Given the description of an element on the screen output the (x, y) to click on. 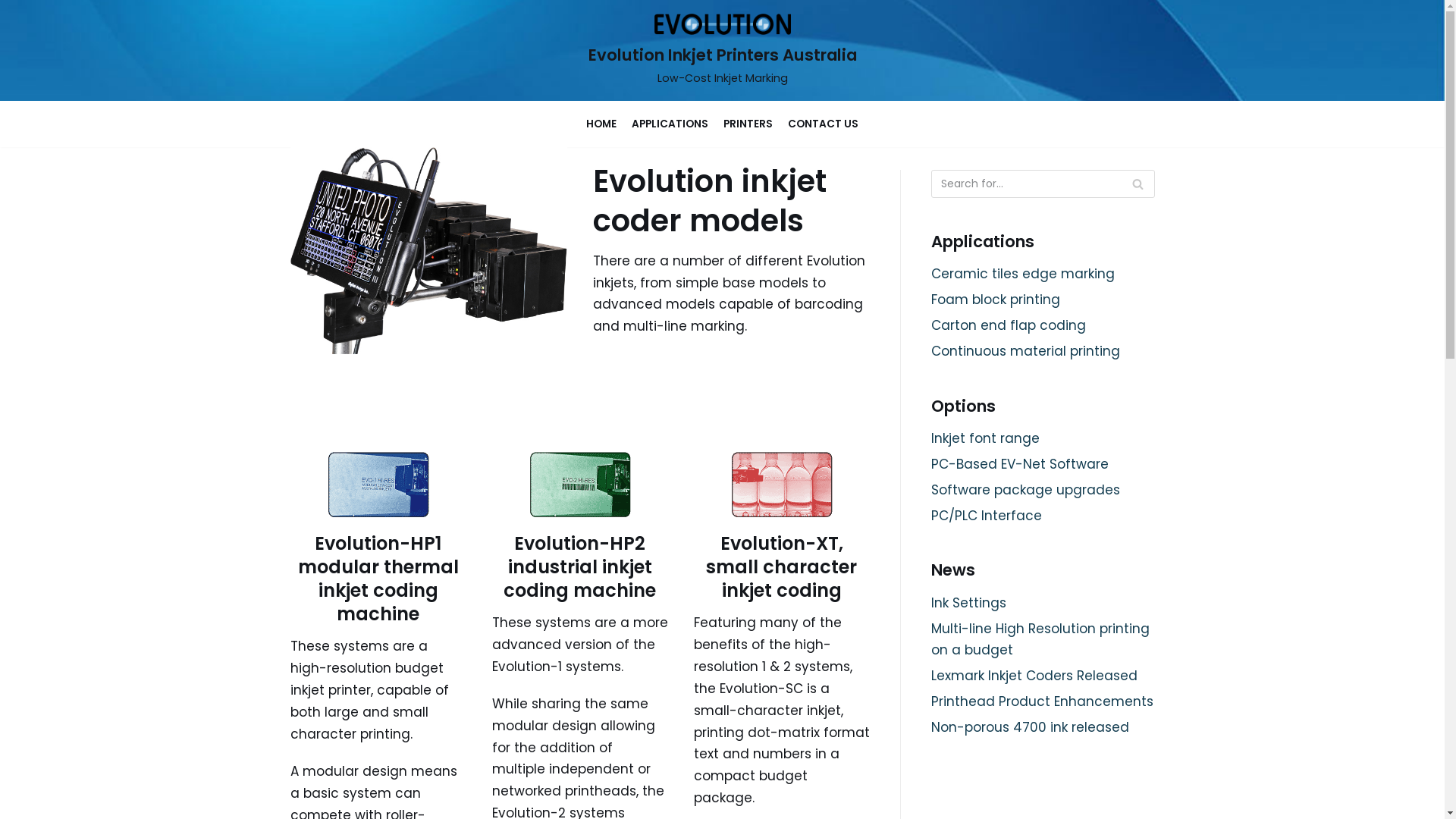
Printhead Product Enhancements Element type: text (1042, 701)
Non-porous 4700 ink released Element type: text (1030, 727)
Skip to content Element type: text (15, 7)
Software package upgrades Element type: text (1025, 489)
PRINTERS Element type: text (747, 123)
Continuous material printing Element type: text (1025, 351)
HOME Element type: text (601, 123)
Lexmark Inkjet Coders Released Element type: text (1034, 675)
Multi-line High Resolution printing on a budget Element type: text (1040, 638)
PC-Based EV-Net Software Element type: text (1019, 464)
Carton end flap coding Element type: text (1008, 325)
Ink Settings Element type: text (968, 602)
Evolution Inkjet Printers Australia
Low-Cost Inkjet Marking Element type: text (722, 50)
Ceramic tiles edge marking Element type: text (1022, 273)
Foam block printing Element type: text (995, 299)
Inkjet font range Element type: text (985, 438)
APPLICATIONS Element type: text (669, 123)
PC/PLC Interface Element type: text (986, 515)
CONTACT US Element type: text (822, 123)
